Given the description of an element on the screen output the (x, y) to click on. 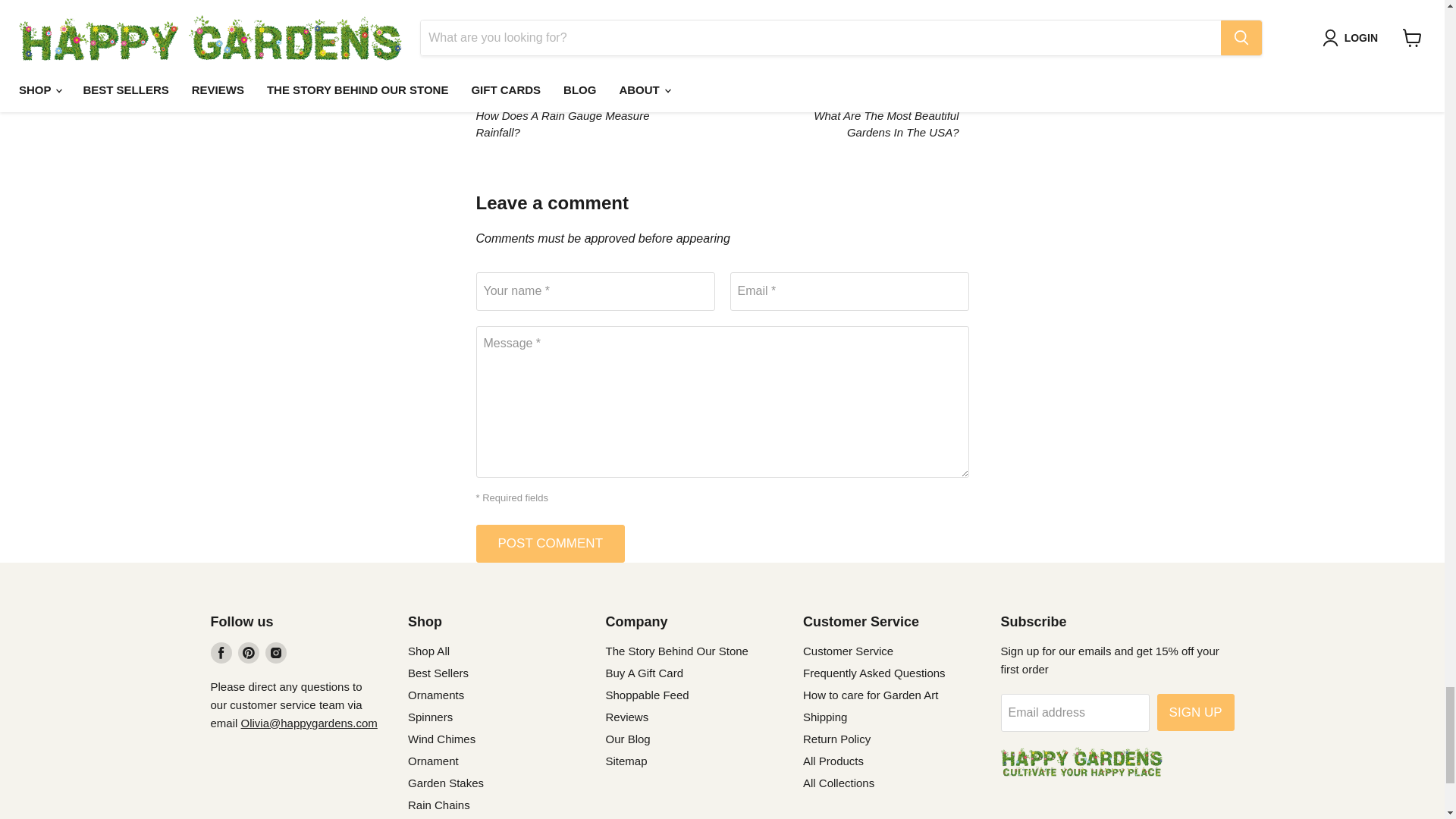
Show articles tagged garden (561, 33)
Pinterest (248, 652)
Show articles tagged DIY (526, 33)
Facebook (221, 652)
Instagram (275, 652)
Show articles tagged watering cans (618, 33)
